Given the description of an element on the screen output the (x, y) to click on. 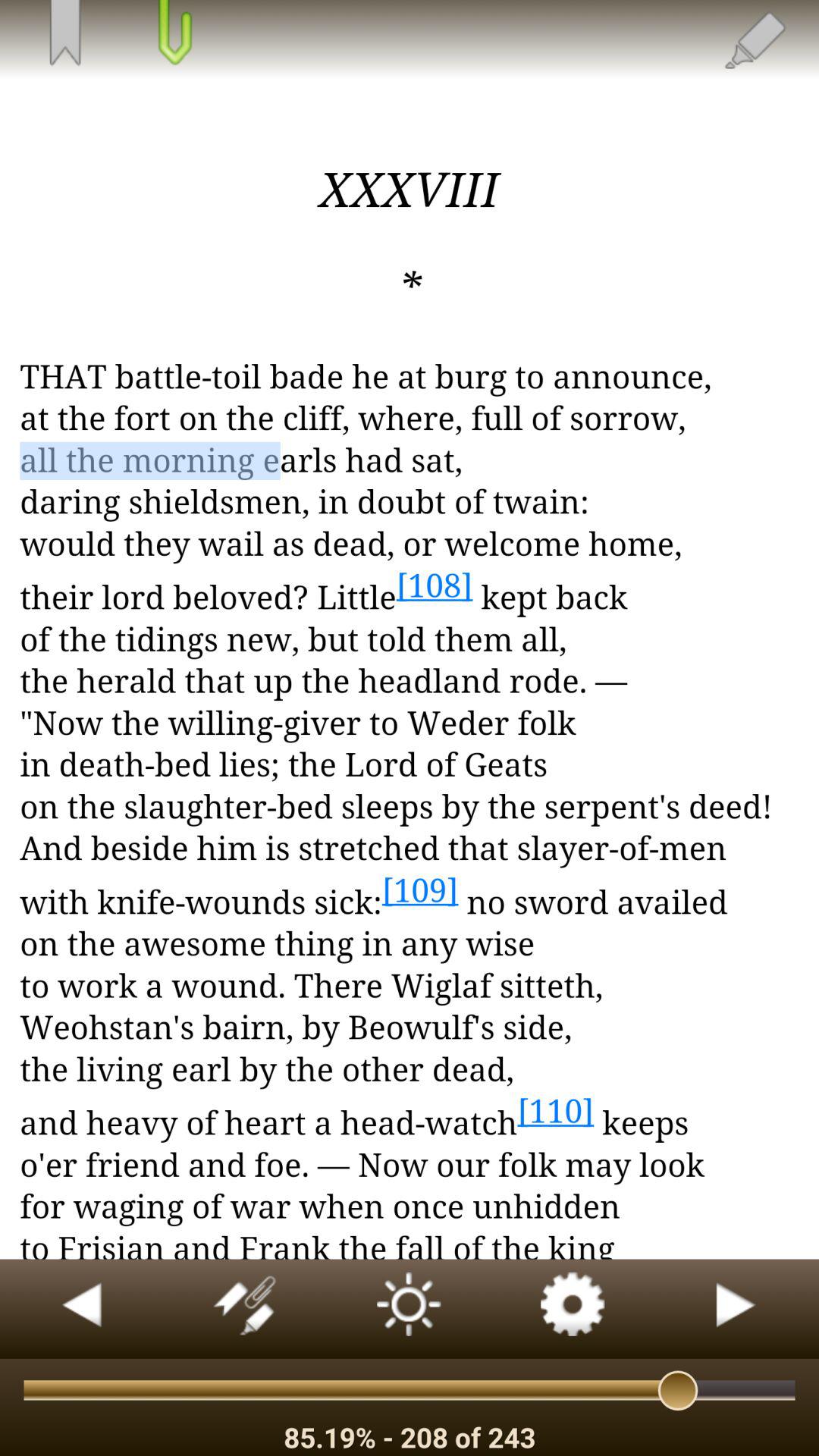
use bookmark (64, 34)
